Given the description of an element on the screen output the (x, y) to click on. 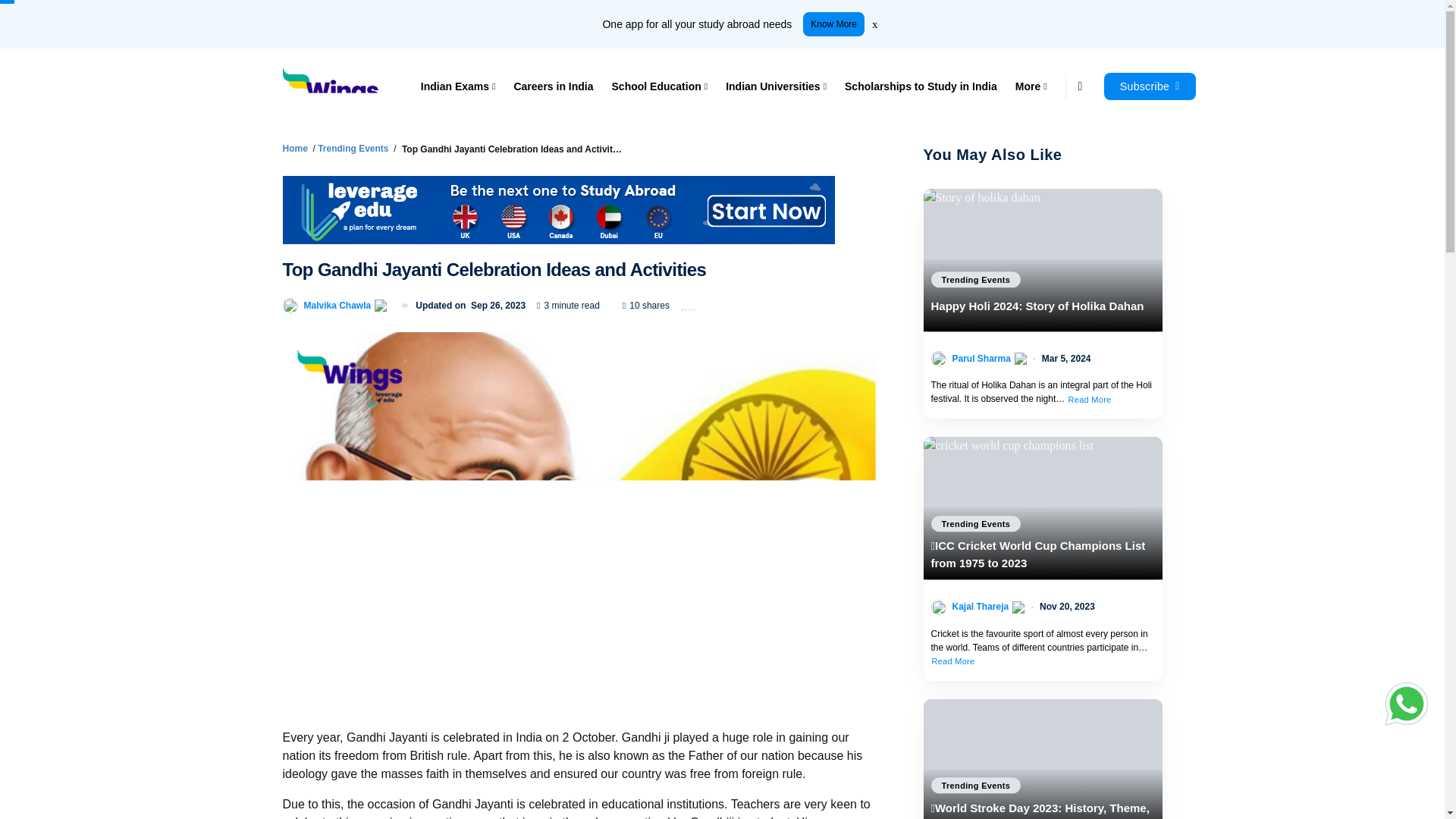
View all posts by Kajal Thareja (980, 606)
View all posts by Parul Sharma (981, 358)
View all posts by Malvika Chawla (336, 305)
